Given the description of an element on the screen output the (x, y) to click on. 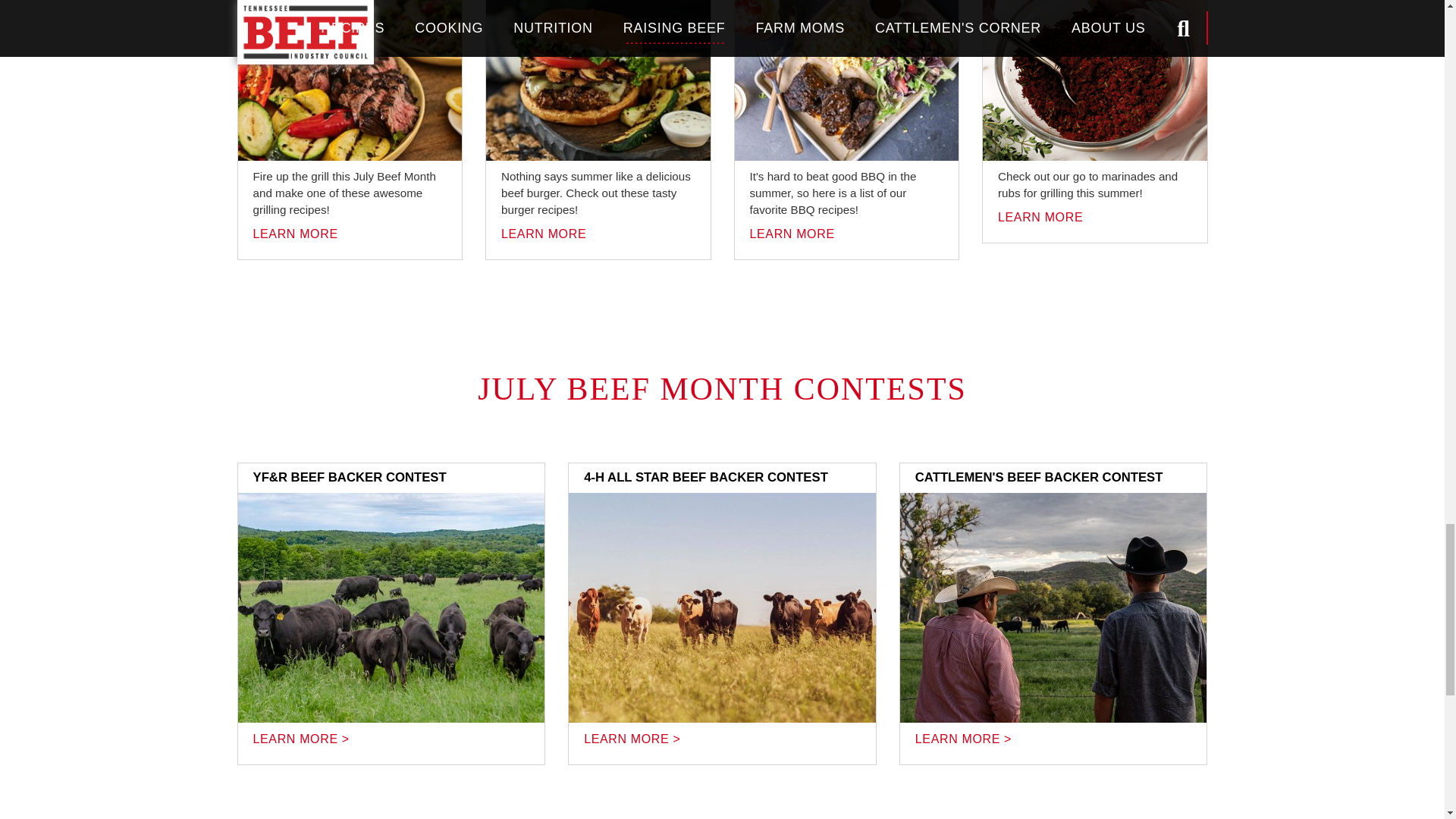
Garlic and Thyme Steak Rub (1094, 80)
Country Style Bourbon BBQ Short Ribs (845, 80)
FY22 Summer Grilling (598, 80)
Thunderview (391, 607)
Cattle On Grass (722, 607)
Chef's Roll Arizona Photos, Chef's Roll Arizona Photos (1053, 607)
